Given the description of an element on the screen output the (x, y) to click on. 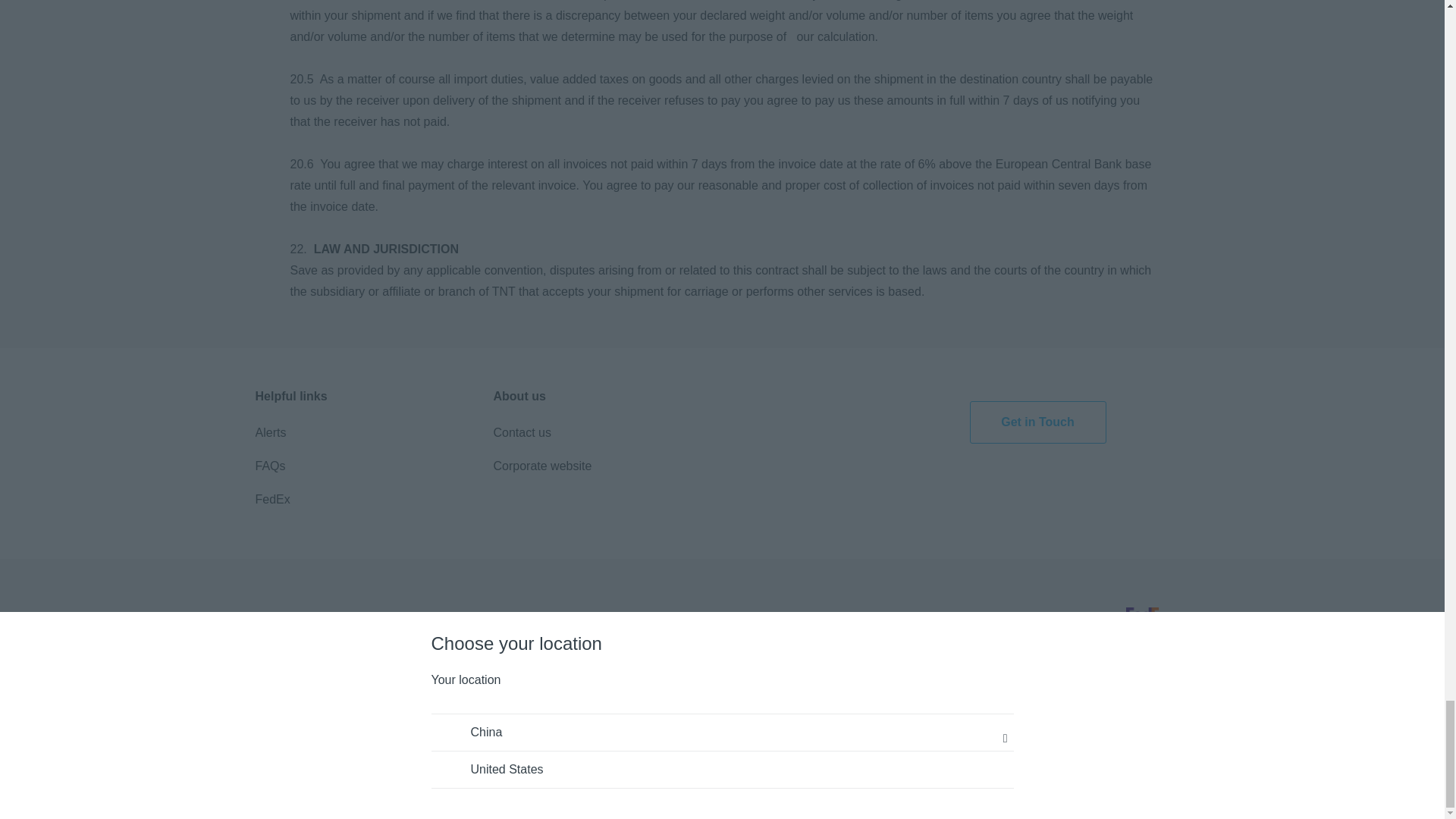
Privacy Policy (385, 623)
FAQs (269, 465)
Sitemap (593, 623)
Alerts (269, 431)
Contact us (521, 431)
Corporate website (542, 465)
FedEx (271, 499)
Get in Touch (1037, 422)
Terms of Use (290, 623)
